Given the description of an element on the screen output the (x, y) to click on. 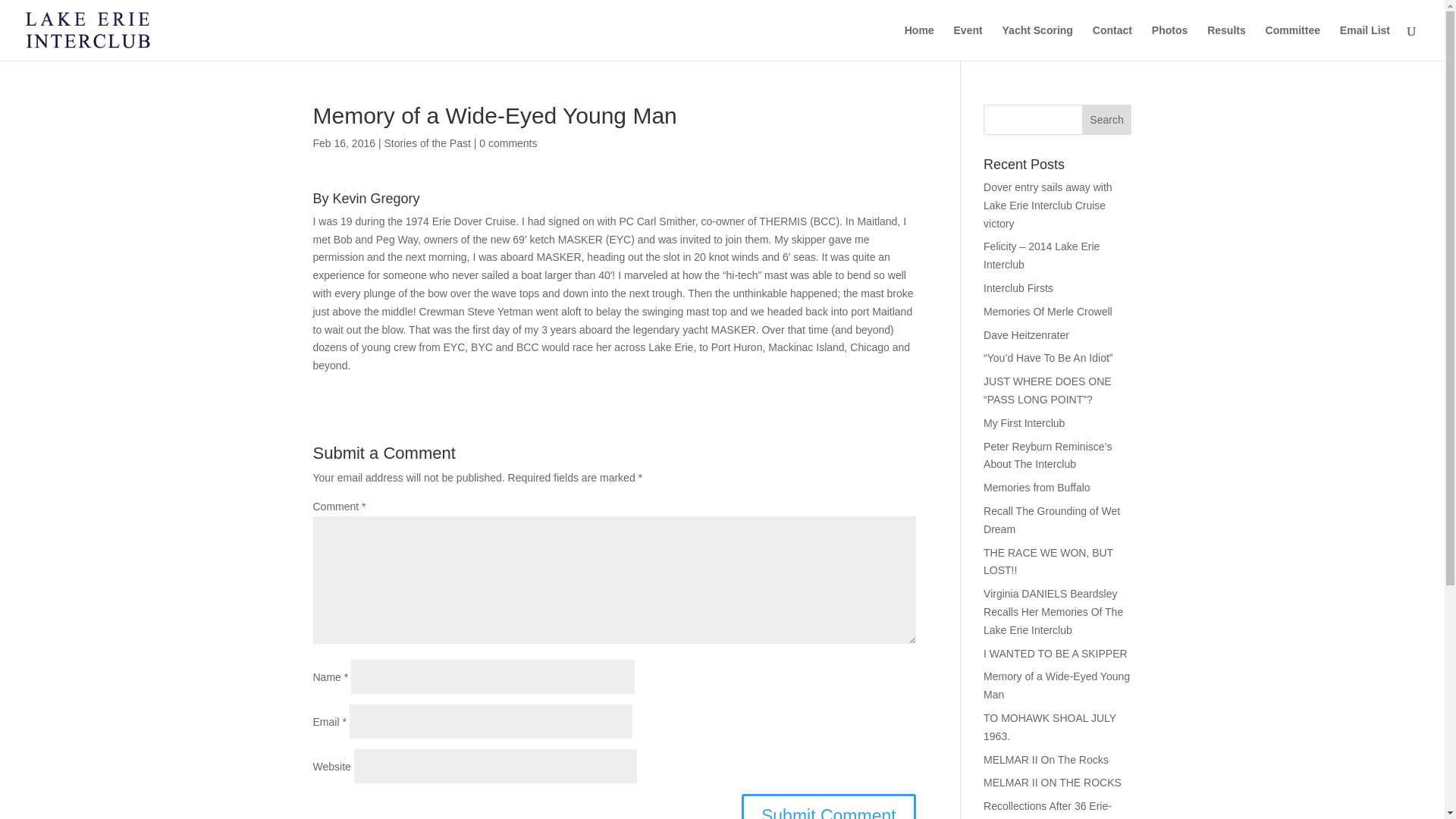
My First Interclub (1024, 422)
0 comments (508, 143)
Email List (1364, 42)
Memory of a Wide-Eyed Young Man (1056, 685)
Photos (1169, 42)
Memories Of Merle Crowell (1048, 311)
Search (1106, 119)
Submit Comment (828, 806)
MELMAR II ON THE ROCKS (1052, 782)
Search (1106, 119)
Contact (1112, 42)
Interclub Firsts (1018, 287)
THE RACE WE WON, BUT LOST!! (1048, 562)
